Given the description of an element on the screen output the (x, y) to click on. 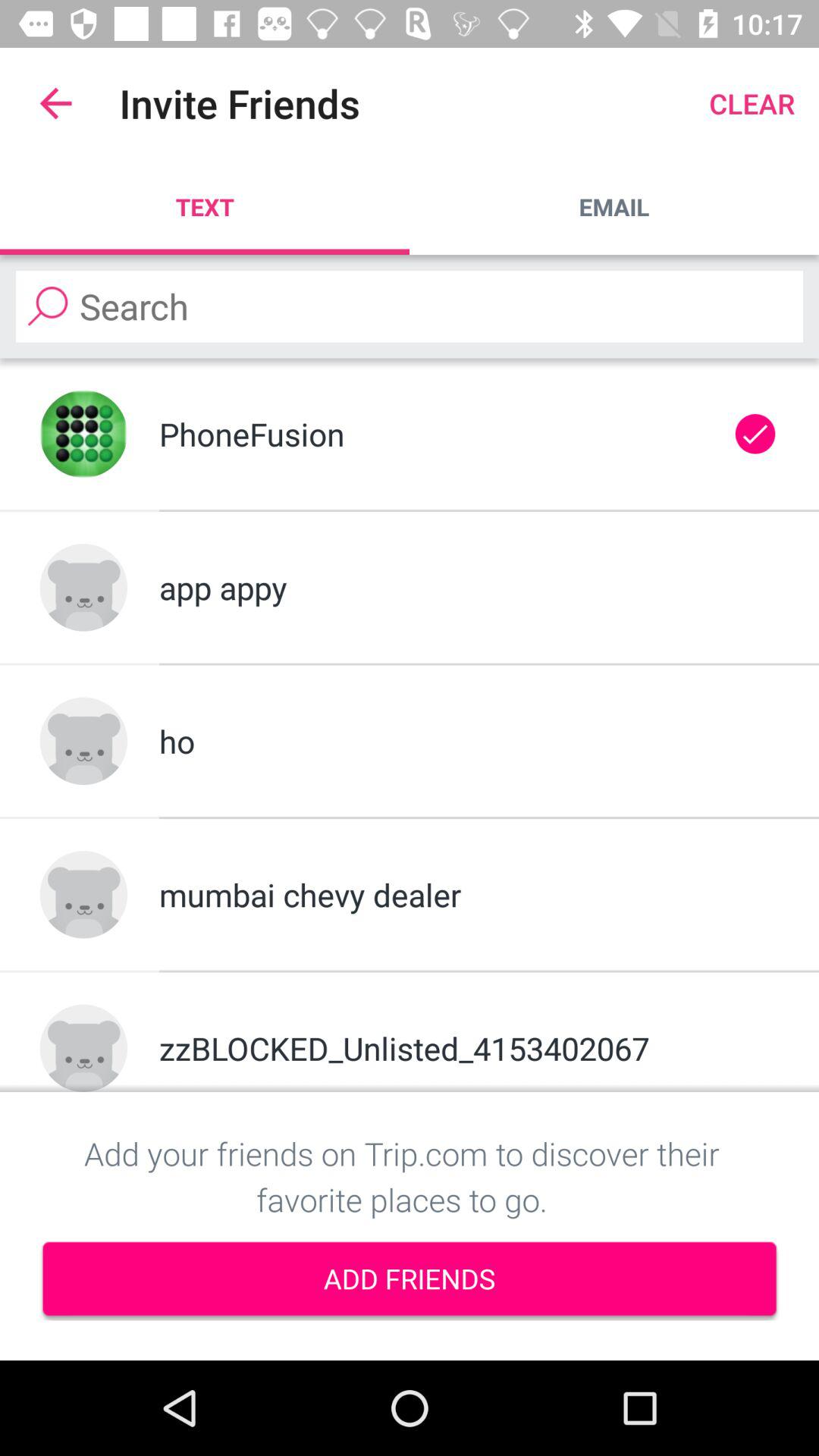
choose mumbai chevy dealer item (469, 894)
